Given the description of an element on the screen output the (x, y) to click on. 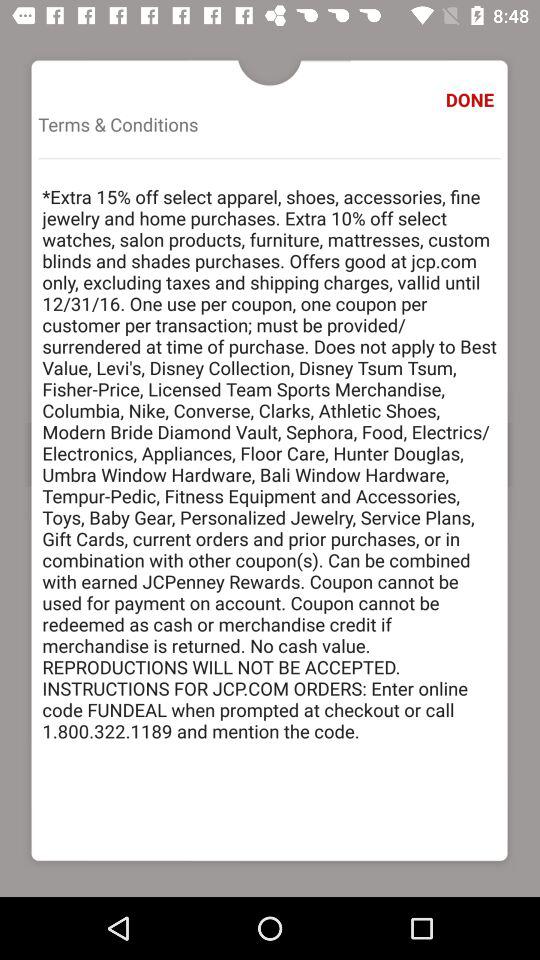
tap item at the top right corner (472, 99)
